Given the description of an element on the screen output the (x, y) to click on. 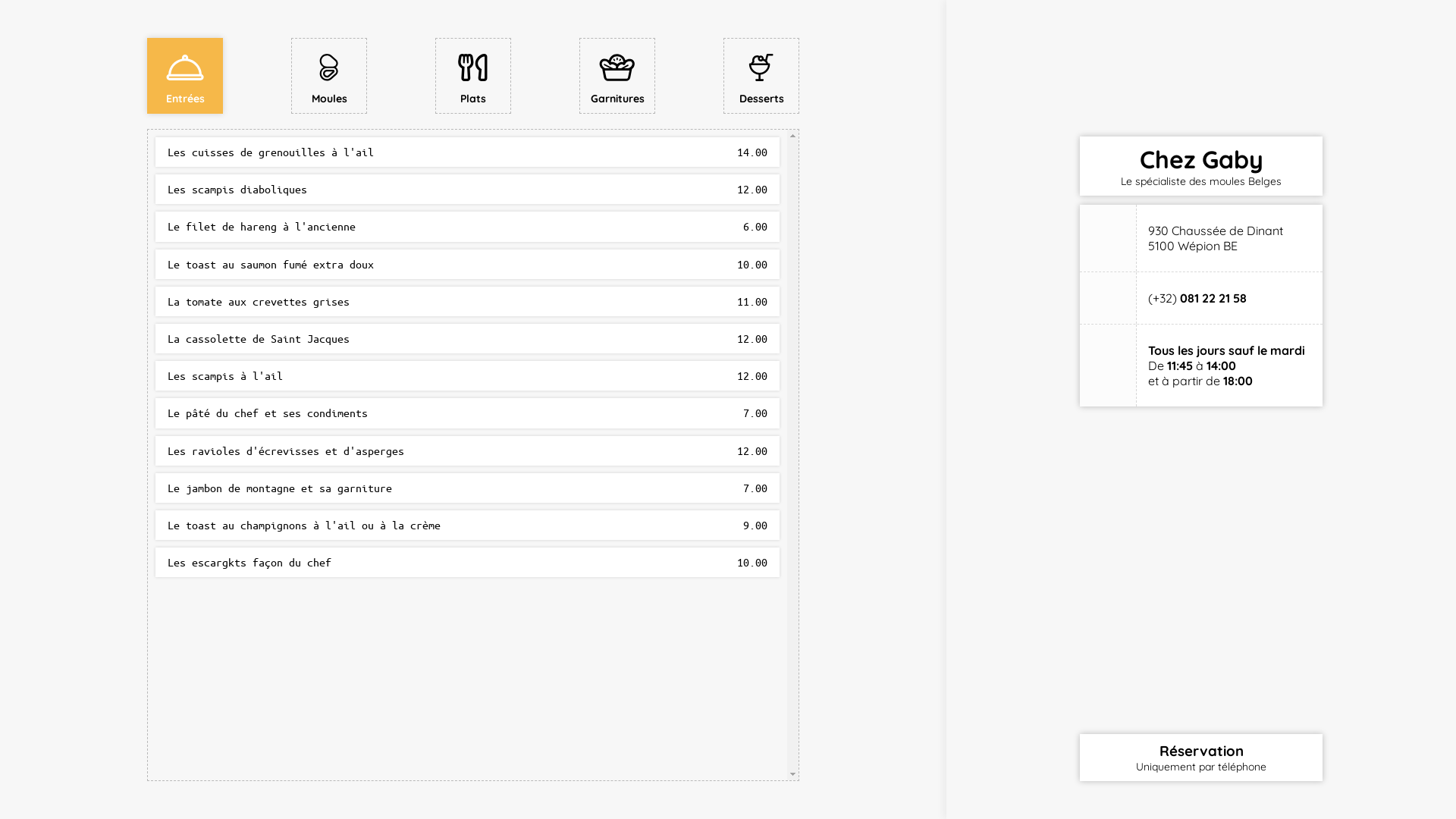
Plats Element type: text (473, 75)
Garnitures Element type: text (617, 75)
Moules Element type: text (329, 75)
Desserts Element type: text (761, 75)
